Given the description of an element on the screen output the (x, y) to click on. 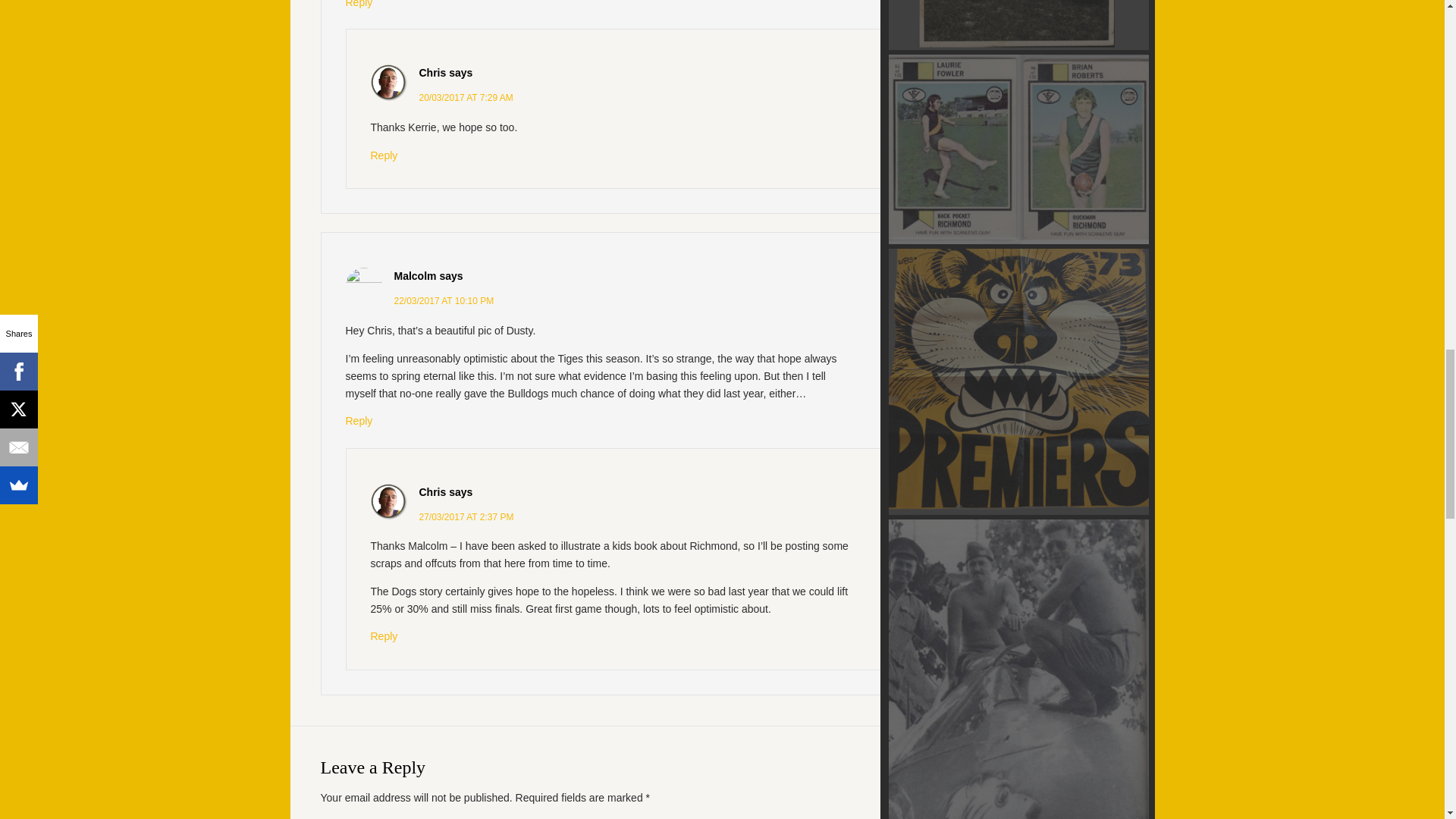
Reply (359, 4)
Reply (359, 420)
Reply (383, 155)
Reply (383, 635)
